Given the description of an element on the screen output the (x, y) to click on. 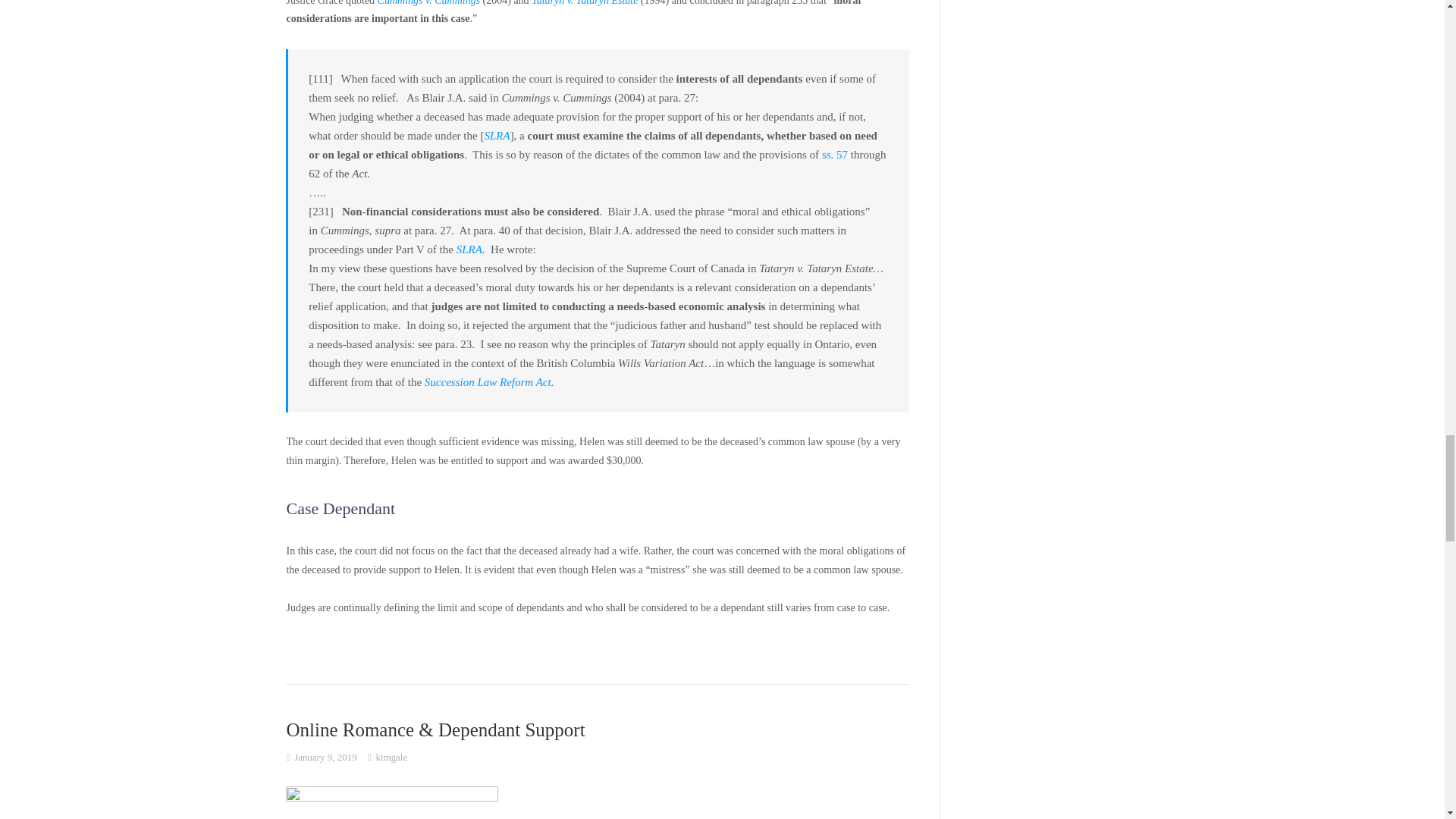
January 9, 2019 (325, 756)
SLRA (496, 135)
Tataryn v. Tataryn Estate (585, 2)
SLRA (469, 249)
Succession Law Reform Act (488, 381)
kimgale (391, 756)
ss. 57 (834, 154)
Cummings v. Cummings (428, 2)
